Given the description of an element on the screen output the (x, y) to click on. 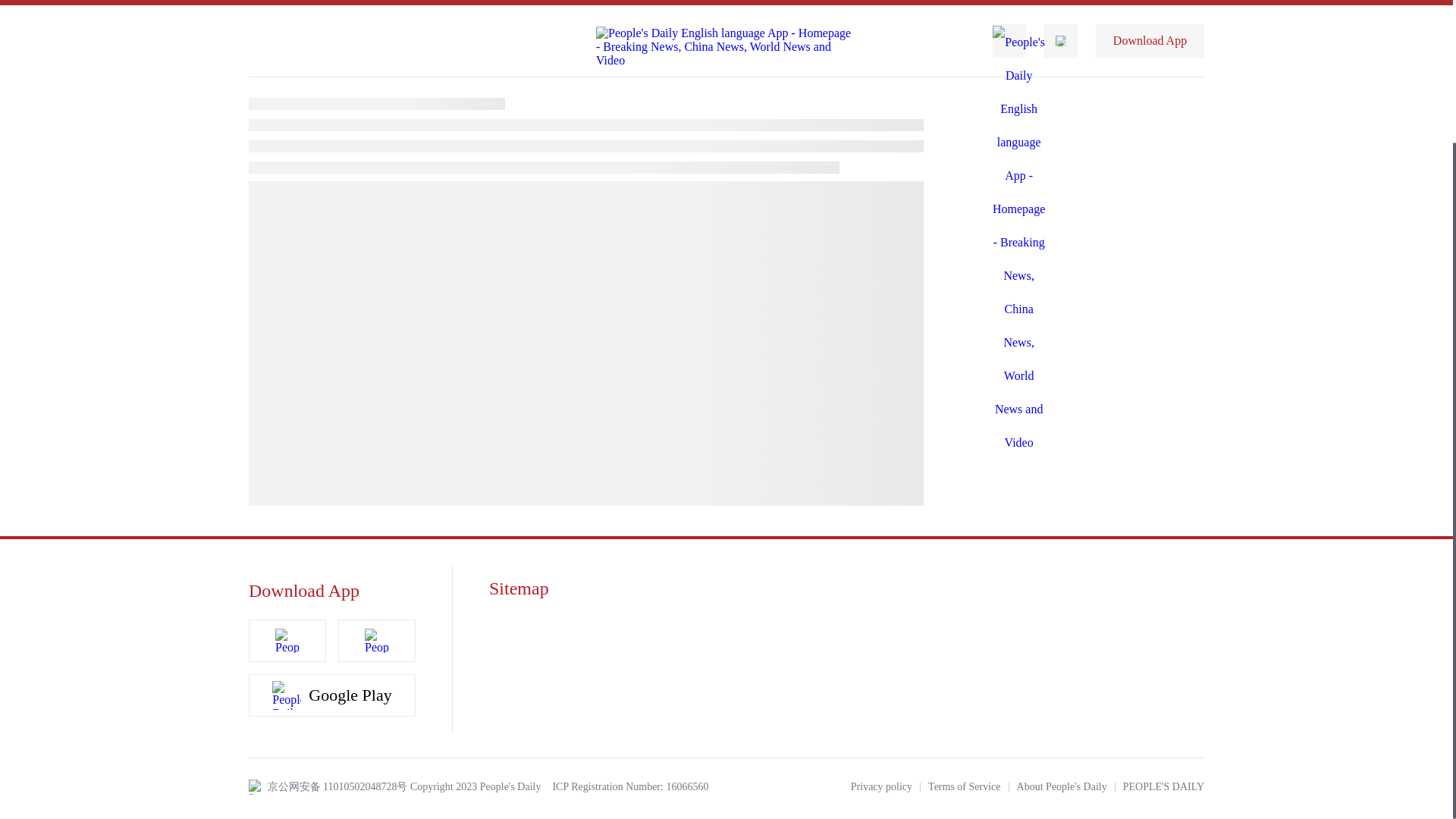
Privacy policy (881, 787)
ICP Registration Number: 16066560 (629, 786)
Google Play (331, 695)
PEOPLE'S DAILY (1163, 787)
About People's Daily (1061, 787)
Terms of Service (964, 787)
